Given the description of an element on the screen output the (x, y) to click on. 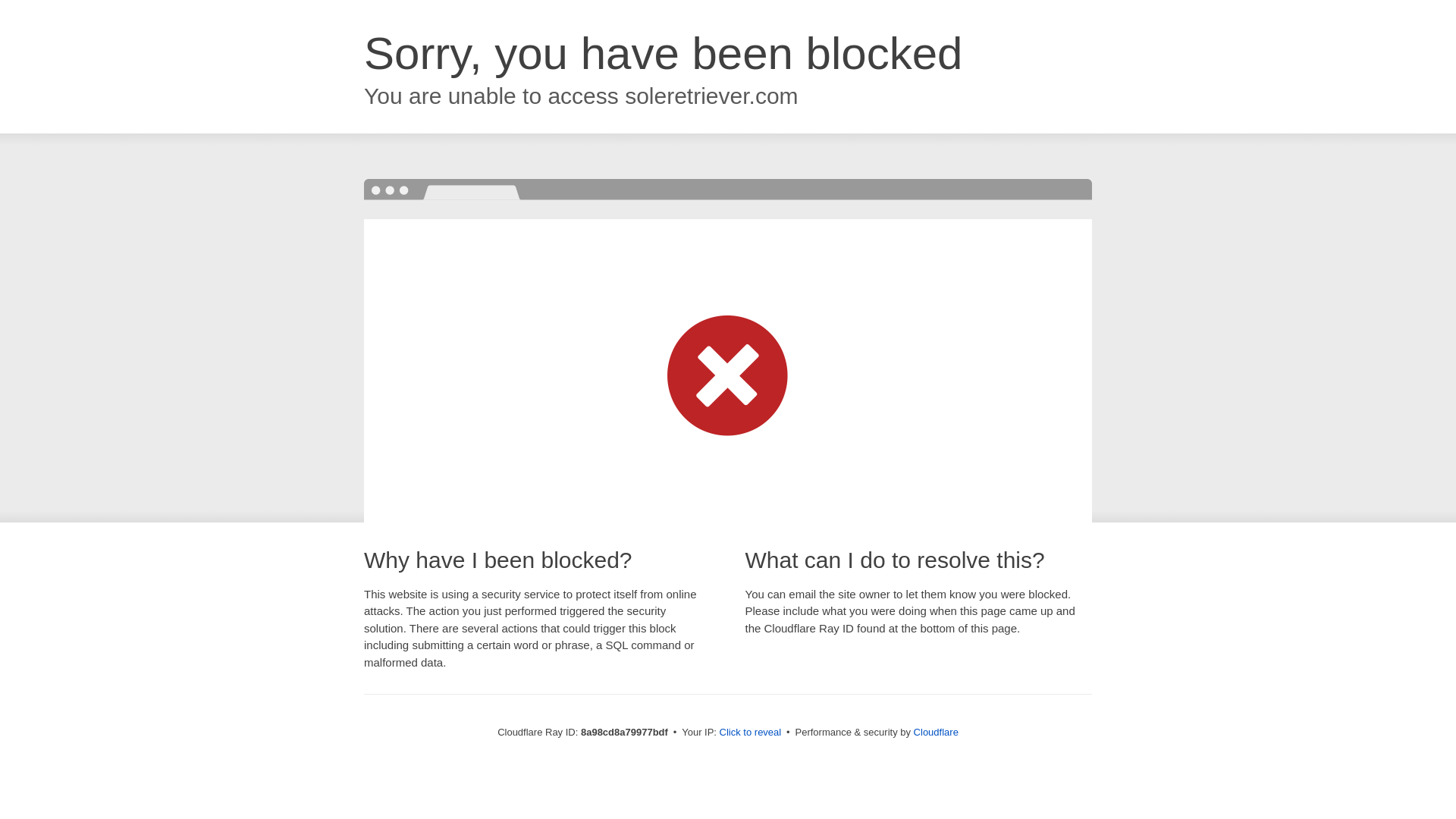
Click to reveal (750, 732)
Cloudflare (936, 731)
